Given the description of an element on the screen output the (x, y) to click on. 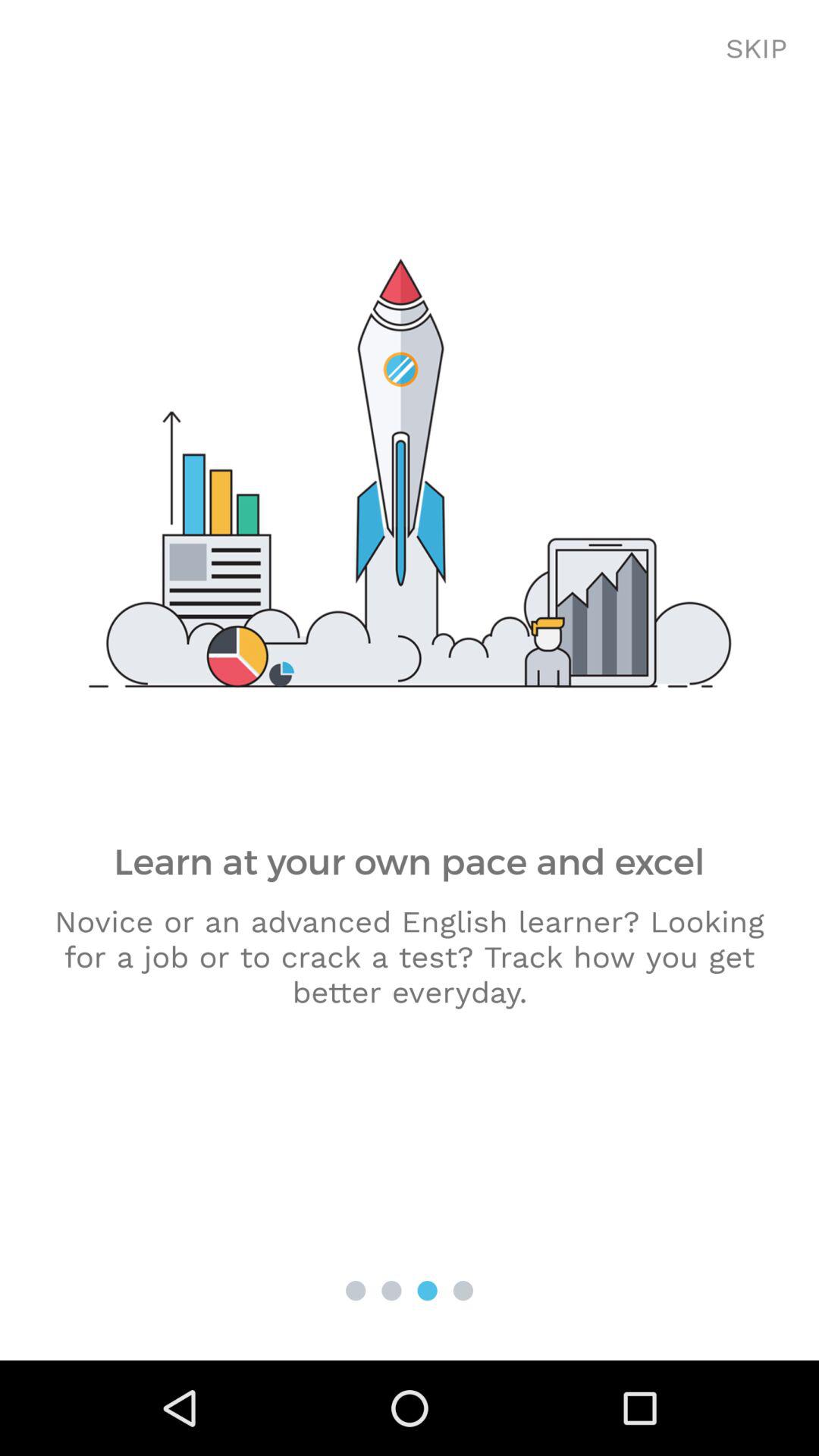
scroll to the skip icon (756, 49)
